Given the description of an element on the screen output the (x, y) to click on. 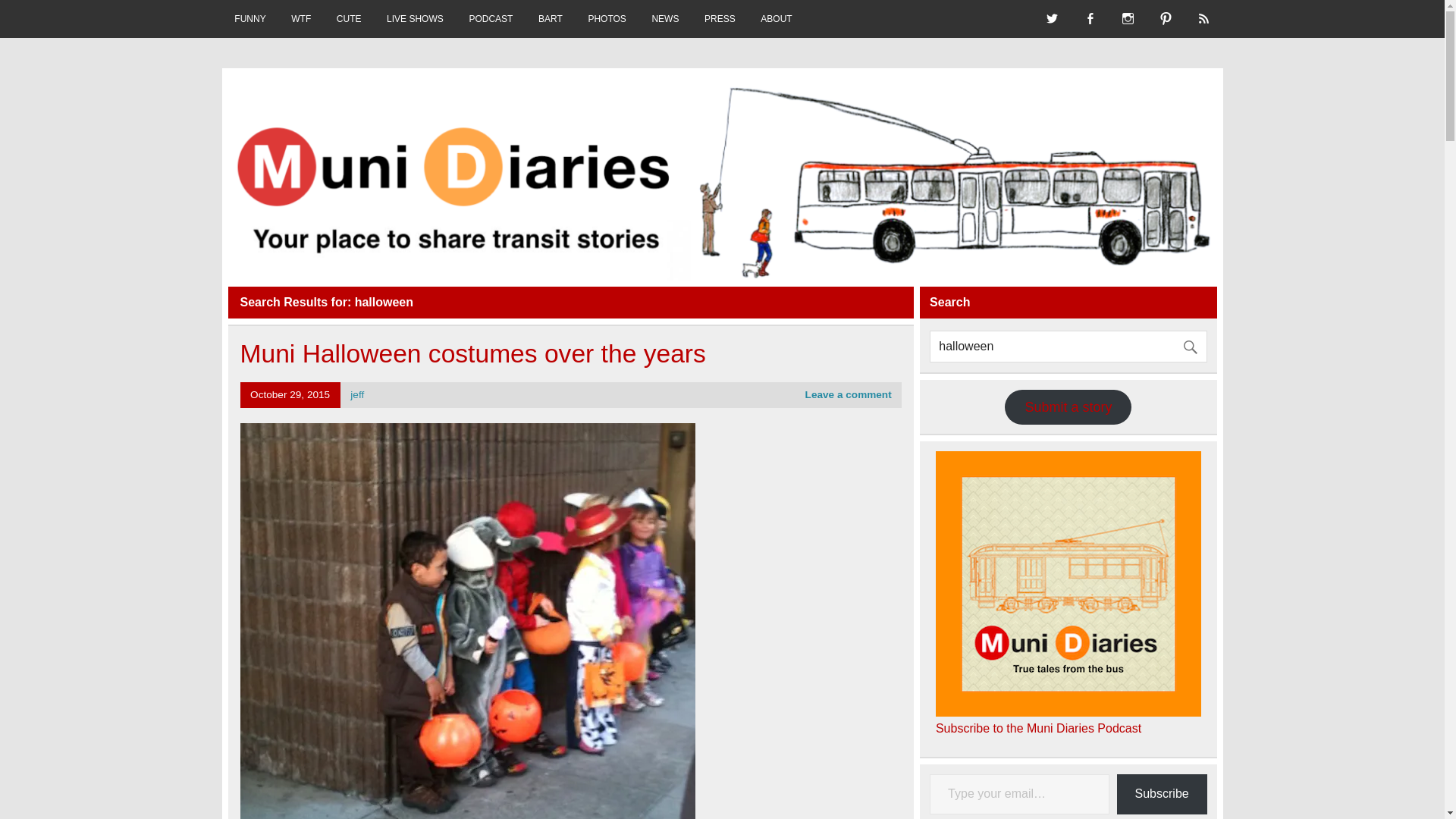
BART (550, 18)
Leave a comment (848, 394)
Muni Halloween costumes over the years (472, 353)
WTF (300, 18)
LIVE SHOWS (414, 18)
CUTE (348, 18)
halloween (1068, 346)
9:12 am (290, 394)
FUNNY (249, 18)
PHOTOS (607, 18)
